Given the description of an element on the screen output the (x, y) to click on. 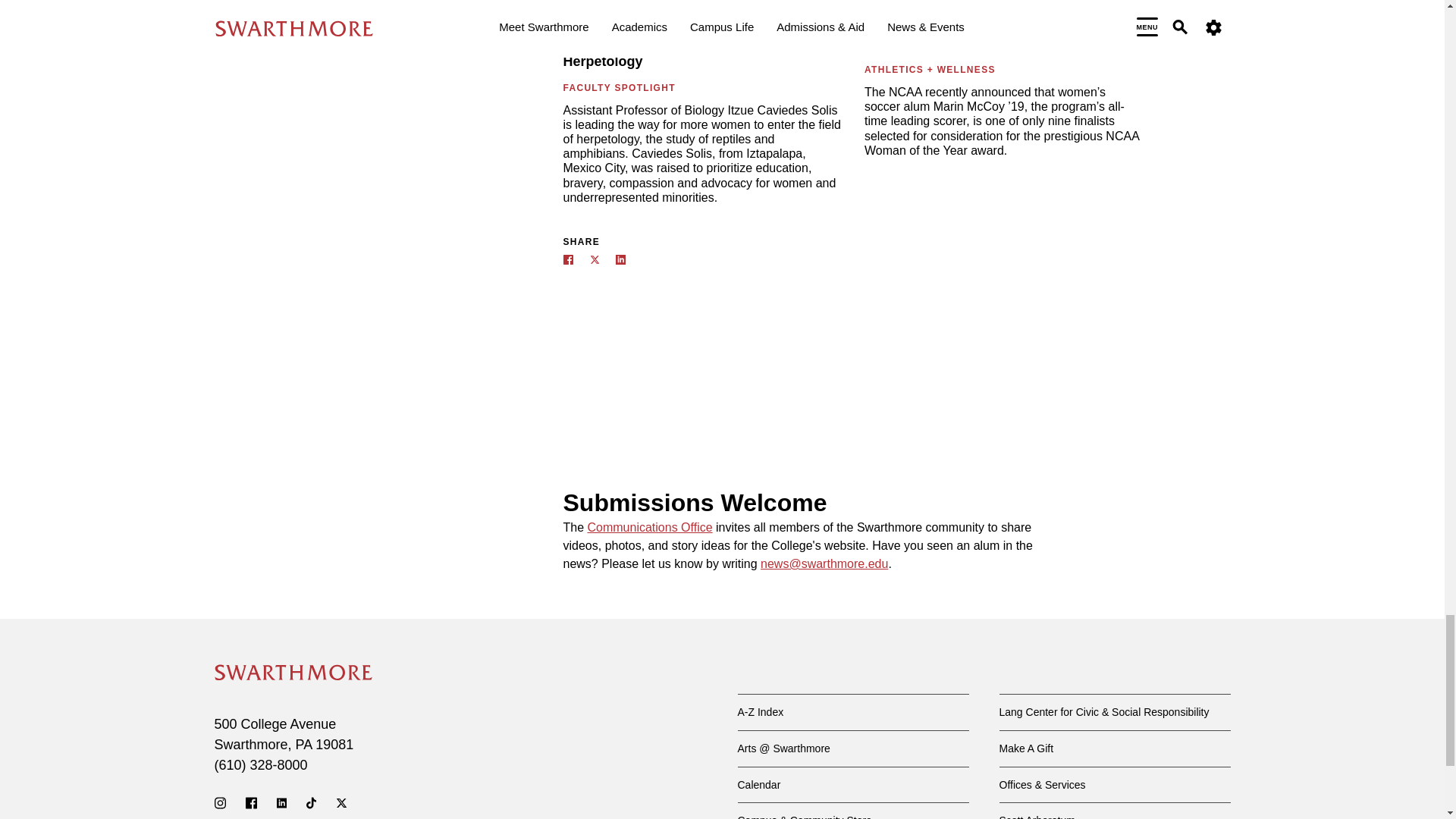
LINKEDIN (620, 259)
Facebook (251, 802)
Pennsylvania (304, 744)
Instagram (219, 802)
FACEBOOK (567, 259)
Swarthmore College - Home (292, 672)
